Given the description of an element on the screen output the (x, y) to click on. 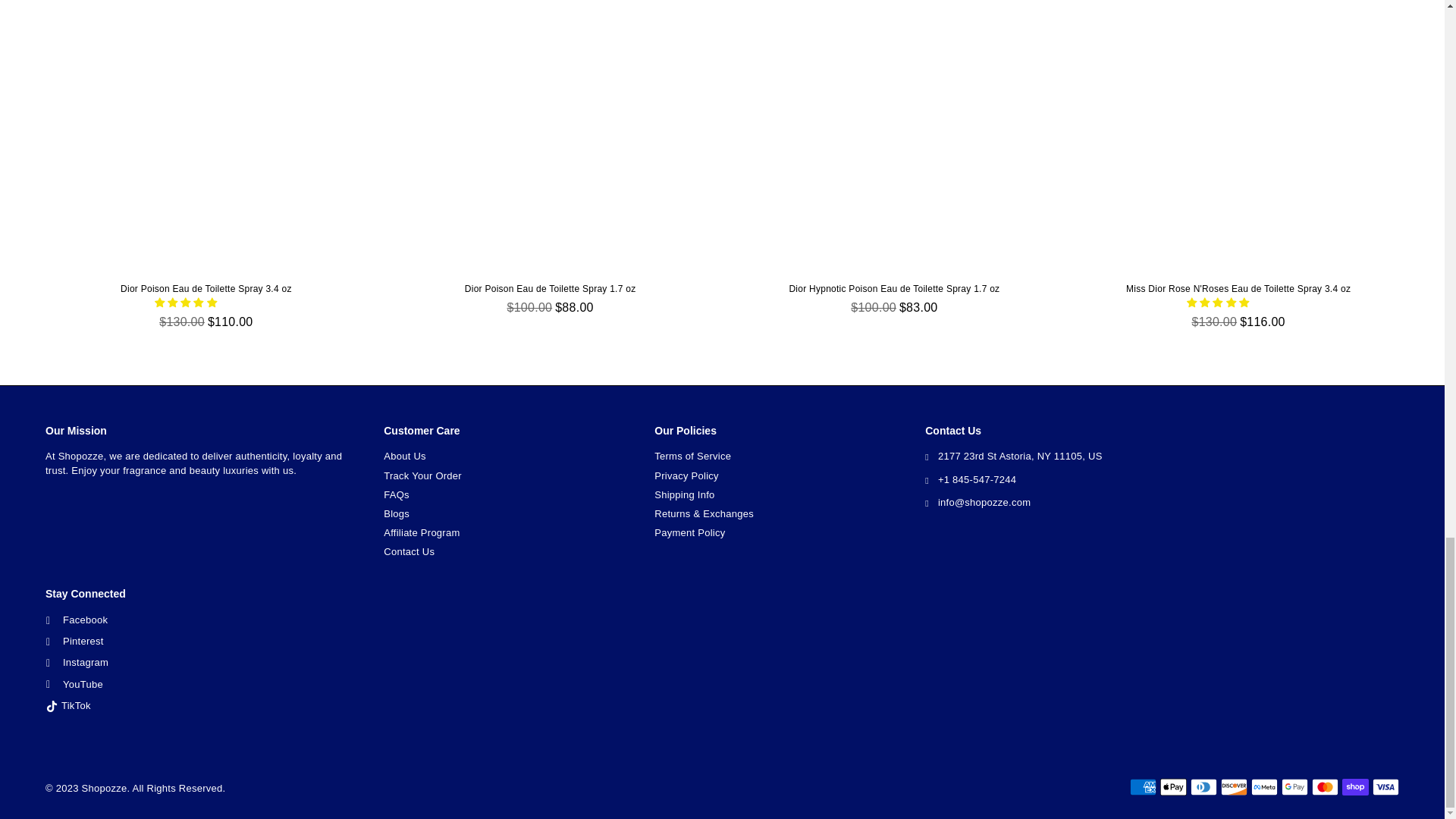
Apple Pay (1173, 787)
Shopozze.com on Facebook (76, 620)
Discover (1234, 787)
Diners Club (1204, 787)
Shopozze.com on YouTube (73, 684)
Meta Pay (1264, 787)
American Express (1142, 787)
Shopozze.com on Instagram (76, 662)
Visa (1386, 787)
Shopozze.com on TikTok (68, 705)
